Given the description of an element on the screen output the (x, y) to click on. 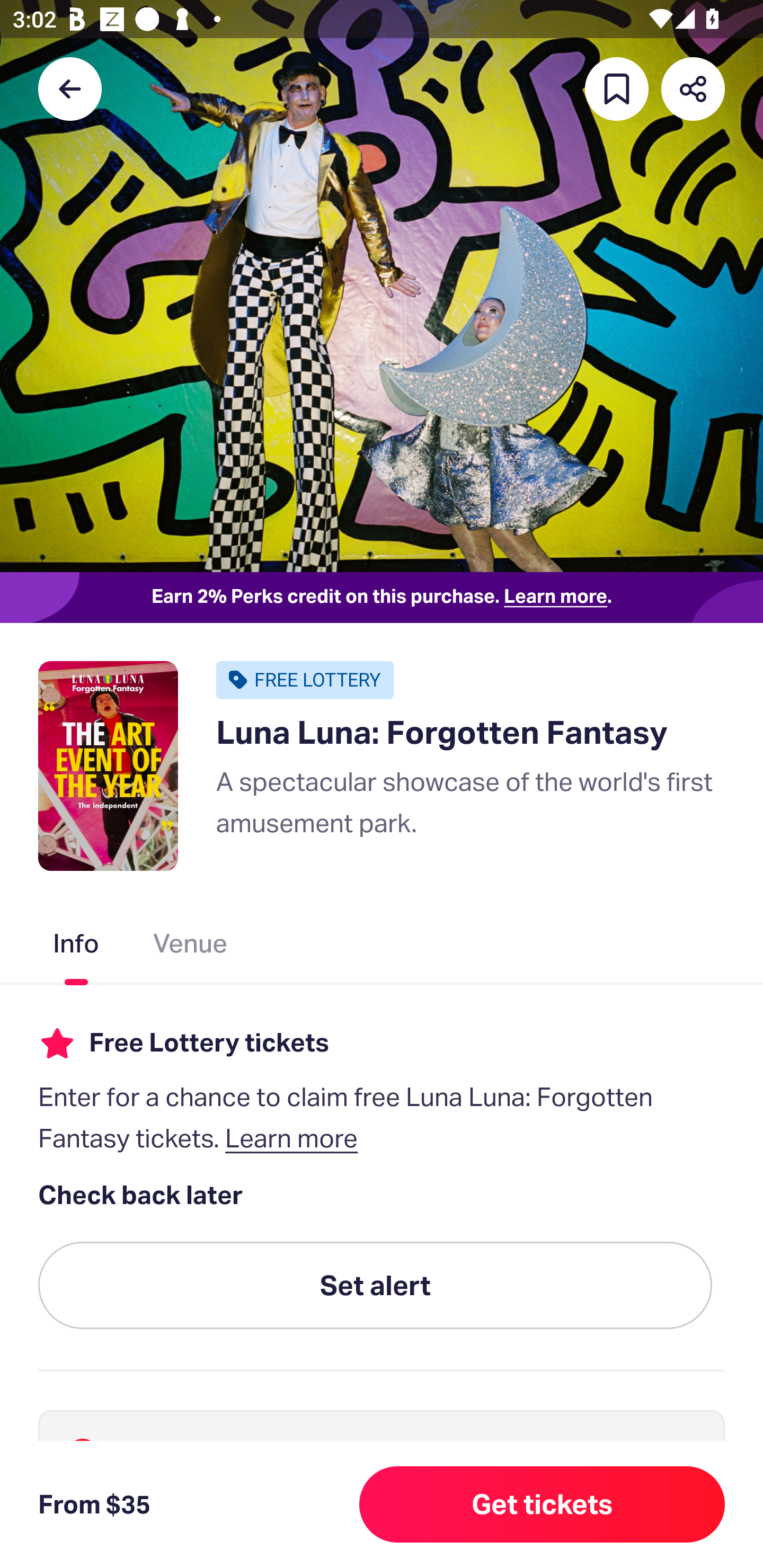
Earn 2% Perks credit on this purchase. Learn more. (381, 597)
Venue (190, 946)
Set alert (374, 1286)
Get tickets (541, 1504)
